Given the description of an element on the screen output the (x, y) to click on. 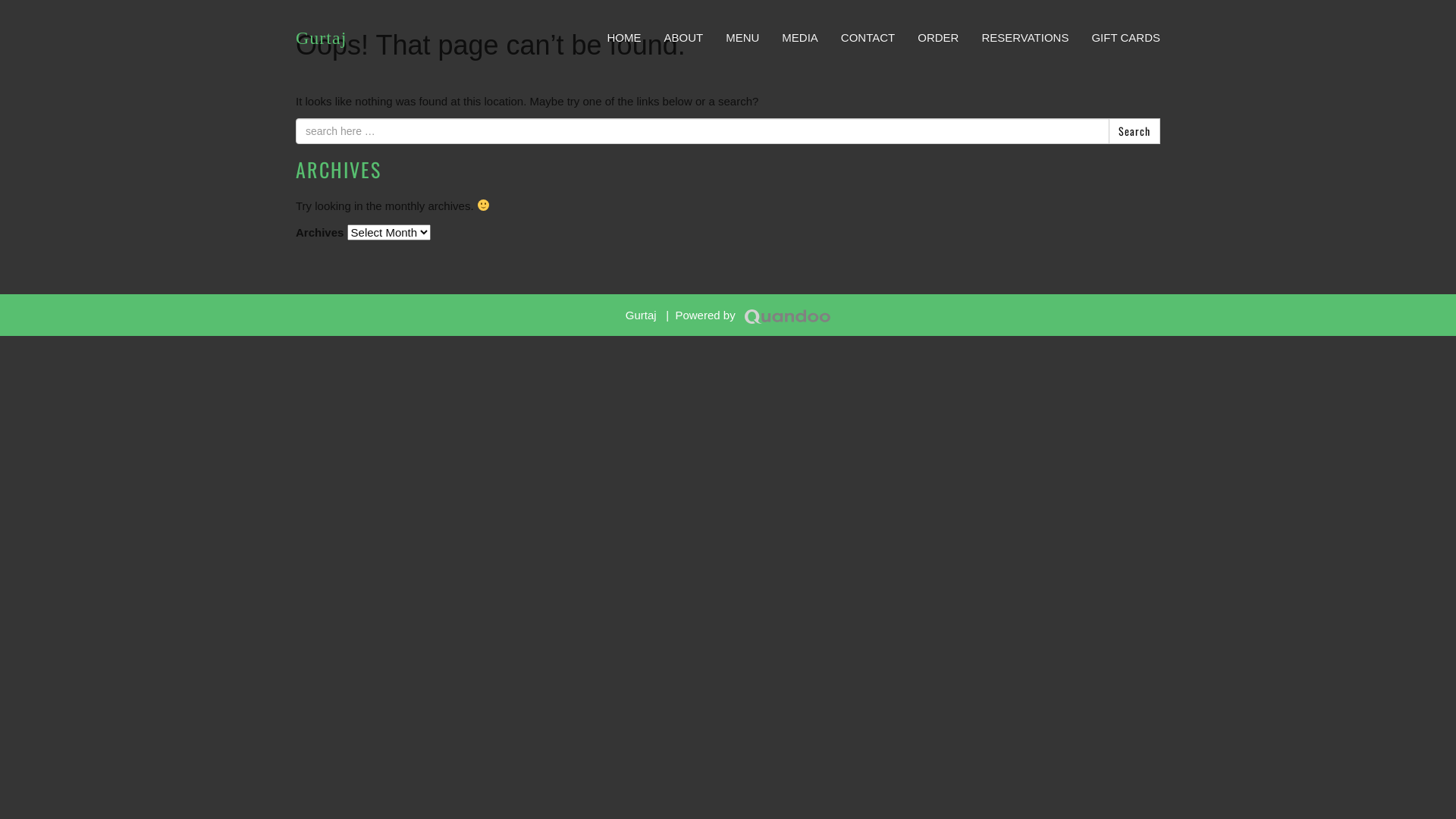
MEDIA Element type: text (799, 37)
RESERVATIONS Element type: text (1024, 37)
ORDER Element type: text (937, 37)
Gurtaj Element type: text (320, 37)
GIFT CARDS Element type: text (1125, 37)
CONTACT Element type: text (867, 37)
ABOUT Element type: text (683, 37)
HOME Element type: text (623, 37)
Search Element type: text (1134, 131)
MENU Element type: text (742, 37)
